Given the description of an element on the screen output the (x, y) to click on. 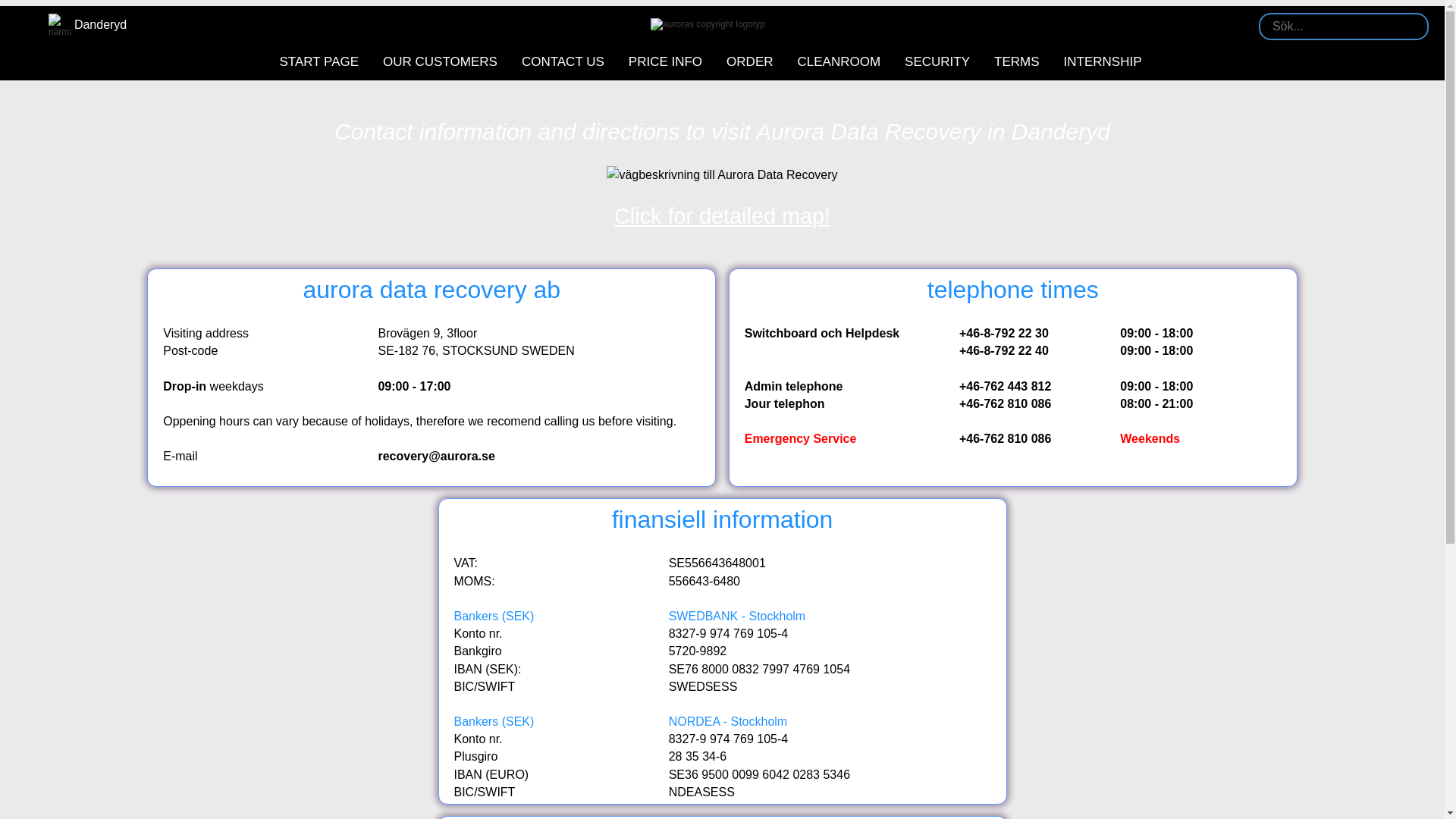
PRICE INFO (664, 62)
INTERNSHIP (1102, 62)
START PAGE (318, 62)
OUR CUSTOMERS (440, 62)
CONTACT US (562, 62)
TERMS (1016, 62)
Nearest tunnelbana station to Aurora Data Recovery (87, 24)
ORDER (749, 62)
SECURITY (936, 62)
CLEANROOM (839, 62)
